Given the description of an element on the screen output the (x, y) to click on. 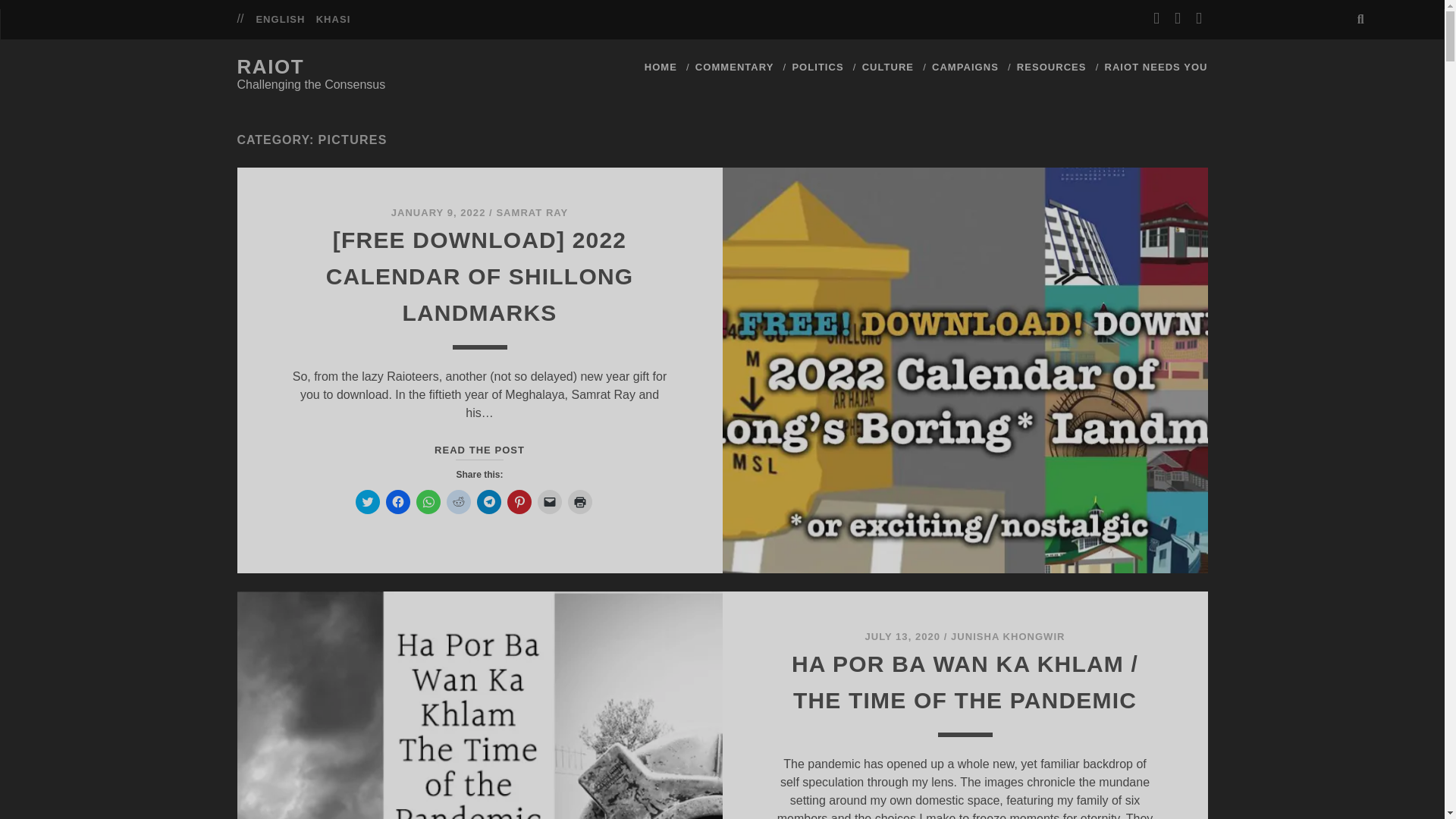
Click to share on Pinterest (518, 501)
Click to share on Twitter (366, 501)
RAIOT NEEDS YOU (1155, 67)
POLITICS (817, 67)
HOME (661, 67)
Posts by Samrat Ray (531, 212)
Click to share on Telegram (488, 501)
Click to email a link to a friend (548, 501)
Click to share on WhatsApp (426, 501)
CAMPAIGNS (964, 67)
